Given the description of an element on the screen output the (x, y) to click on. 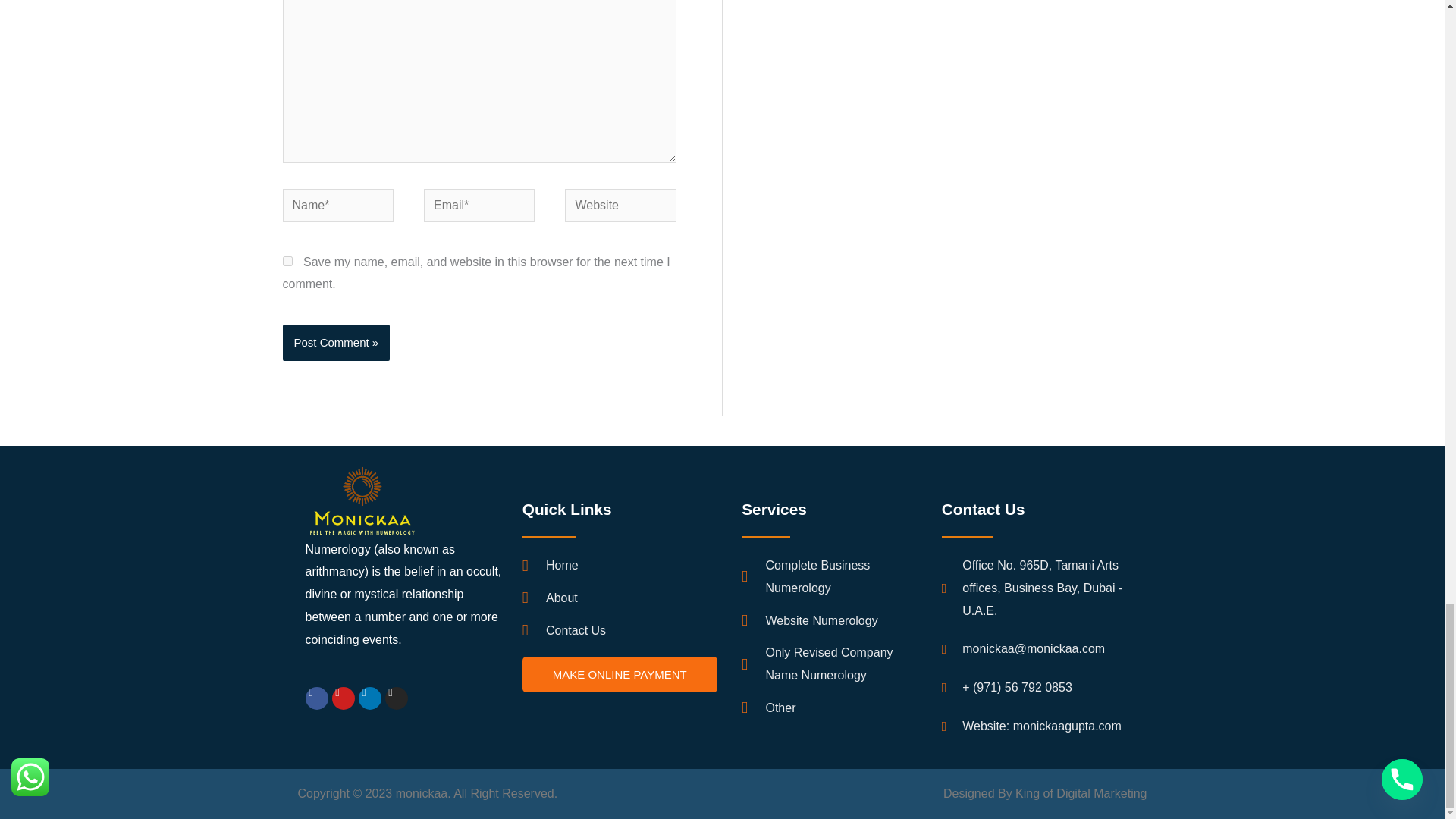
yes (287, 261)
